Given the description of an element on the screen output the (x, y) to click on. 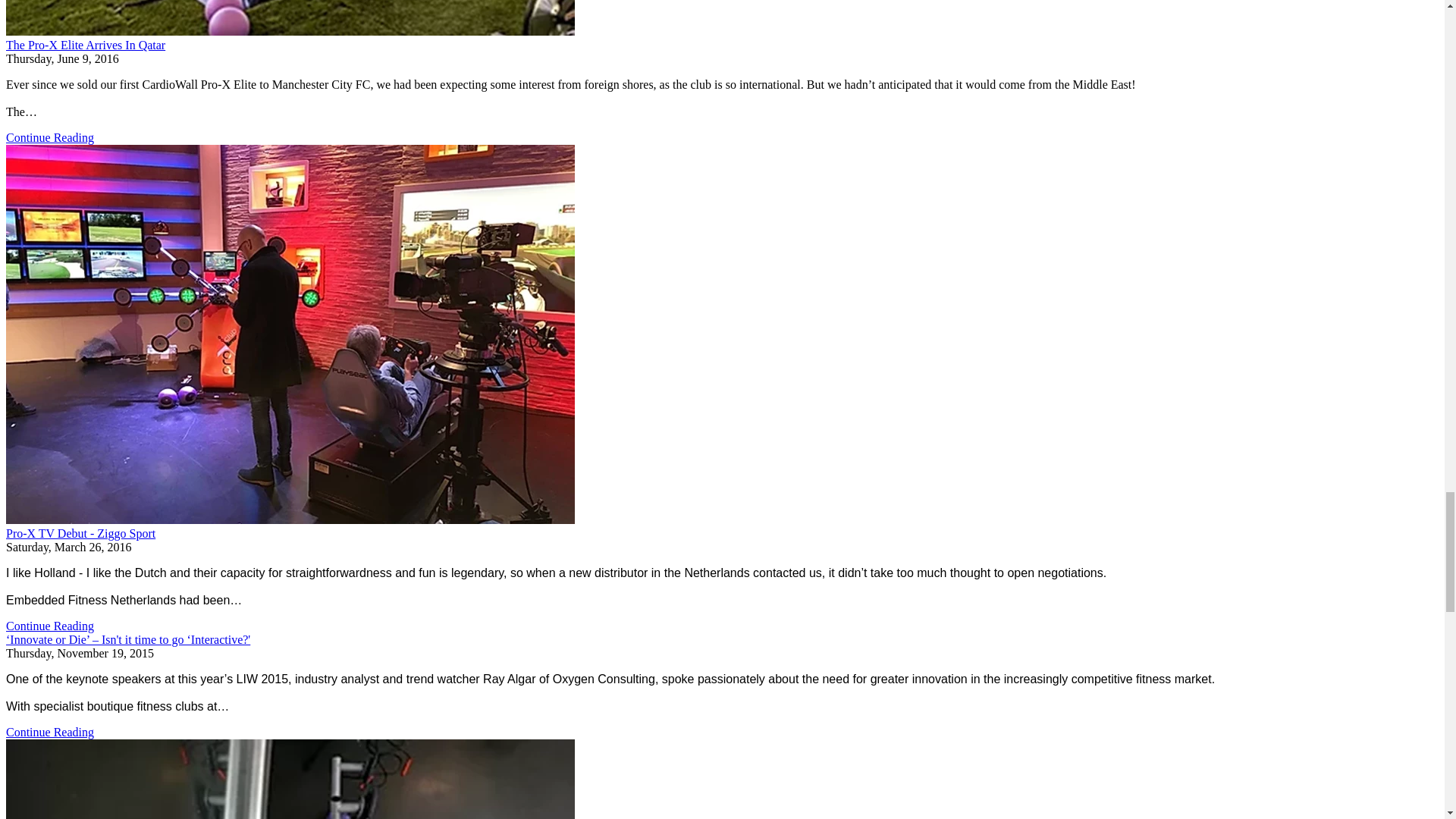
The Pro-X Elite Arrives In Qatar (85, 44)
Continue Reading (49, 137)
Pro-X TV Debut - Ziggo Sport (80, 533)
Continue Reading (49, 625)
